Given the description of an element on the screen output the (x, y) to click on. 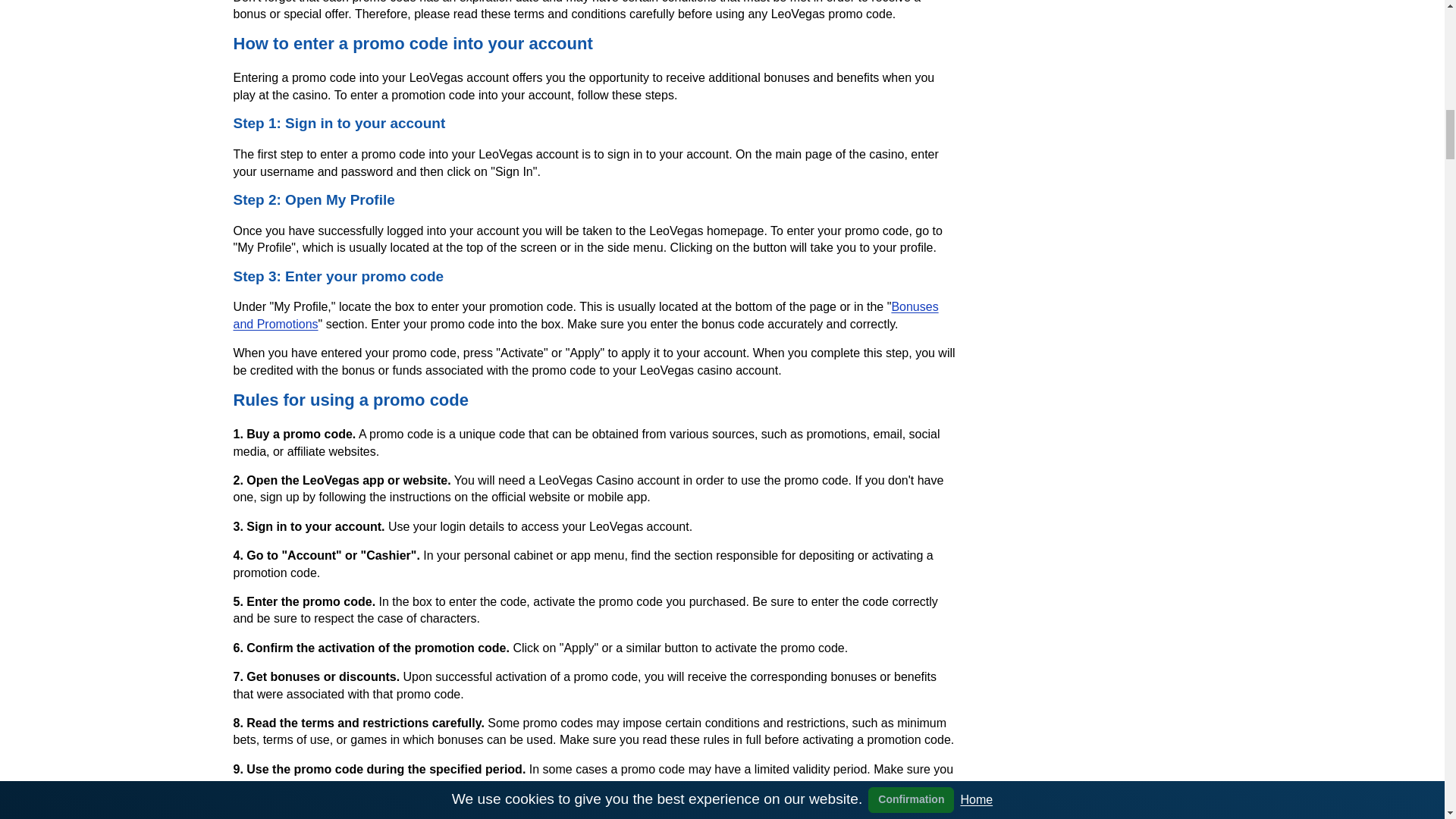
Bonuses and Promotions (585, 315)
